Given the description of an element on the screen output the (x, y) to click on. 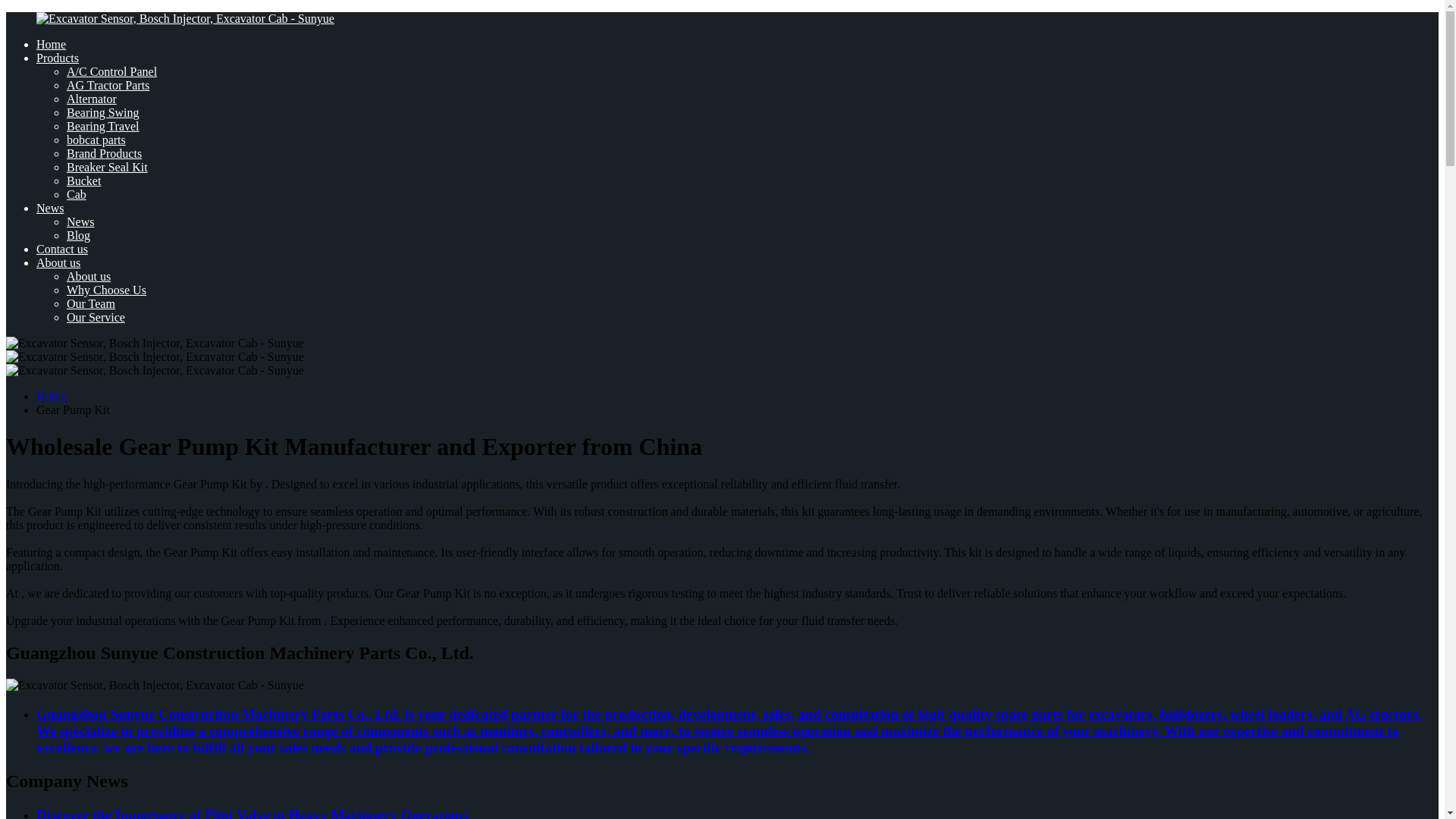
Brand Products (103, 153)
Bearing Swing (102, 112)
bobcat parts (95, 139)
Home (50, 43)
Why Choose Us (106, 289)
News (50, 207)
Bearing Travel (102, 125)
About us (88, 276)
About us (58, 262)
AG Tractor Parts (107, 84)
